Given the description of an element on the screen output the (x, y) to click on. 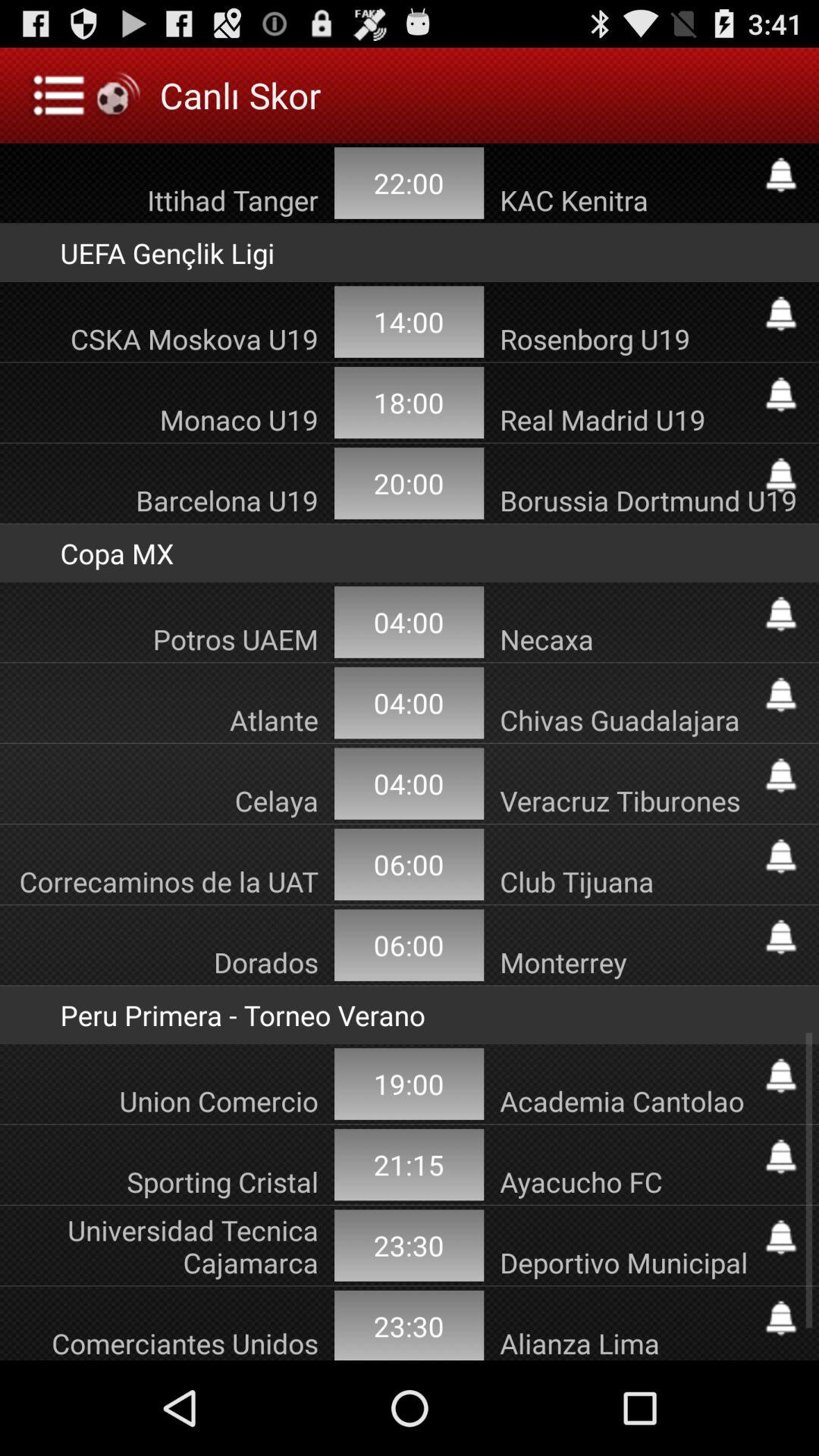
bell button (780, 313)
